Given the description of an element on the screen output the (x, y) to click on. 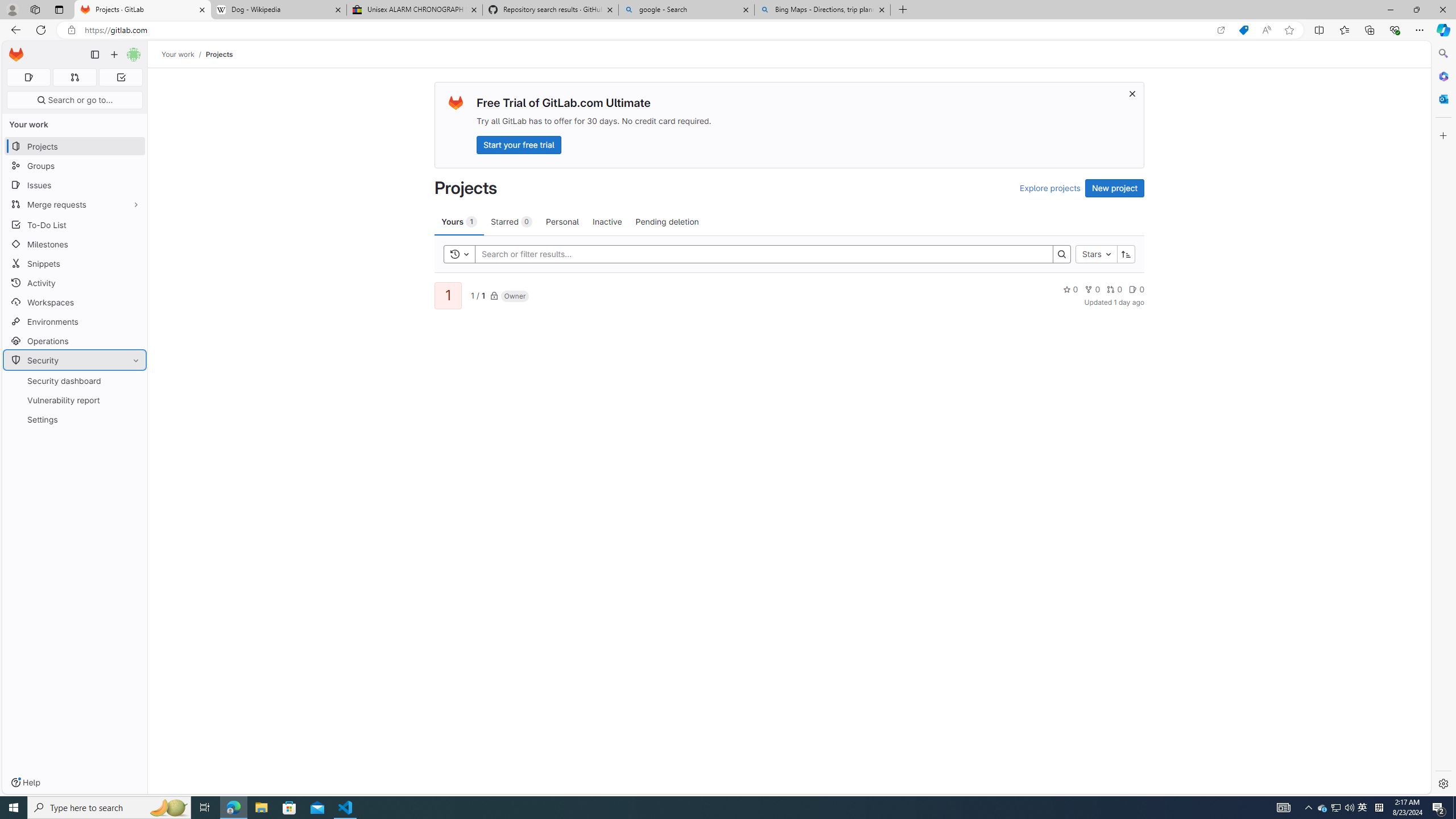
Inactive (606, 221)
Groups (74, 165)
Pending deletion (667, 221)
Snippets (74, 262)
Class: s16 (494, 295)
To-Do List (74, 224)
Start your free trial (519, 144)
To-Do list 0 (120, 76)
Activity (74, 282)
